Given the description of an element on the screen output the (x, y) to click on. 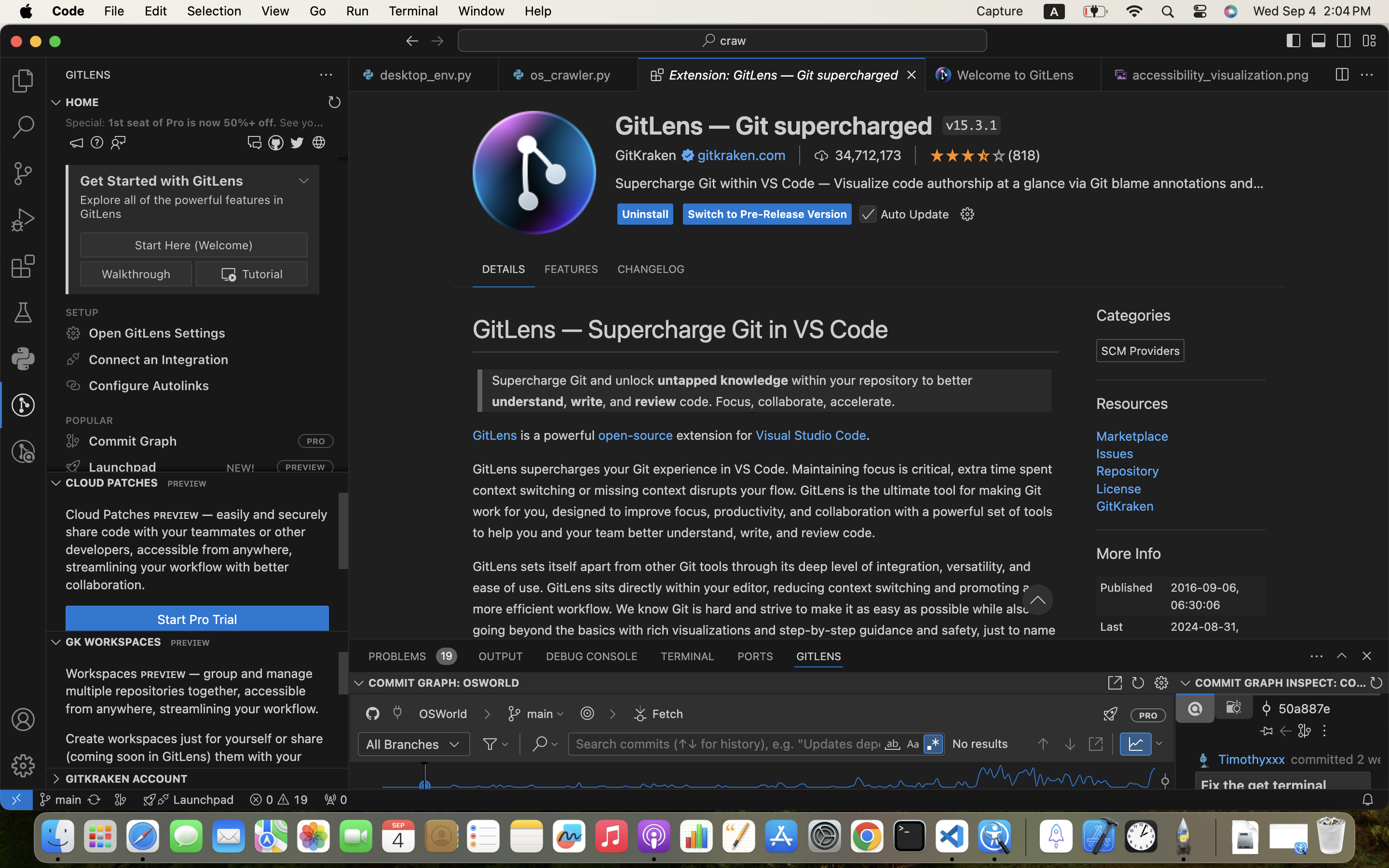
v15.3.1 Element type: AXStaticText (971, 125)
 Element type: AXCheckBox (1341, 655)
EXTENSIONS: MARKETPLACE Element type: AXStaticText (141, 74)
Fetch Element type: AXStaticText (667, 713)
GitLens Element type: AXStaticText (1094, 515)
